Given the description of an element on the screen output the (x, y) to click on. 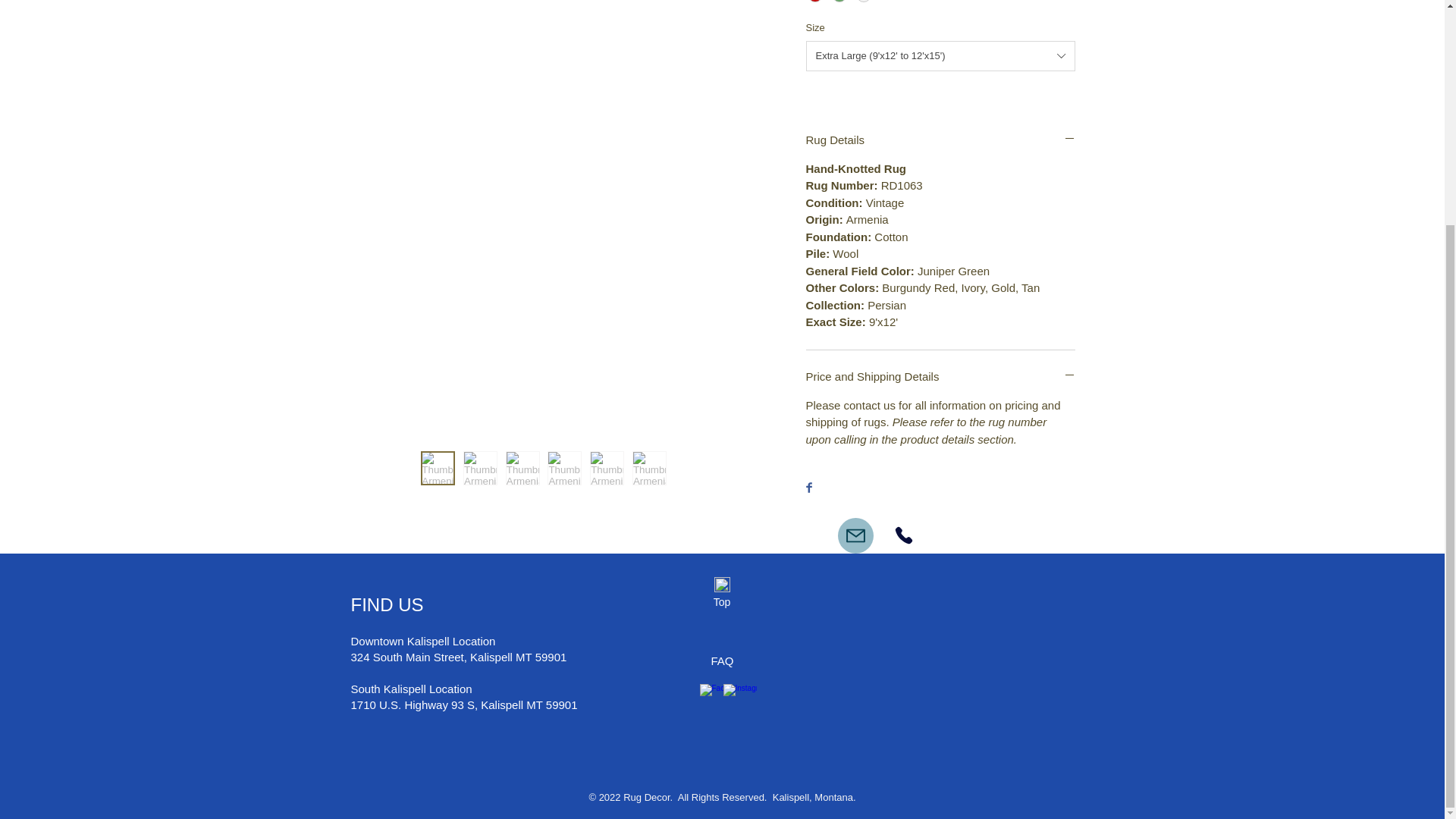
FAQ (721, 660)
Rug Details (939, 139)
Price and Shipping Details (939, 376)
Back to top (722, 584)
Top (721, 602)
